Given the description of an element on the screen output the (x, y) to click on. 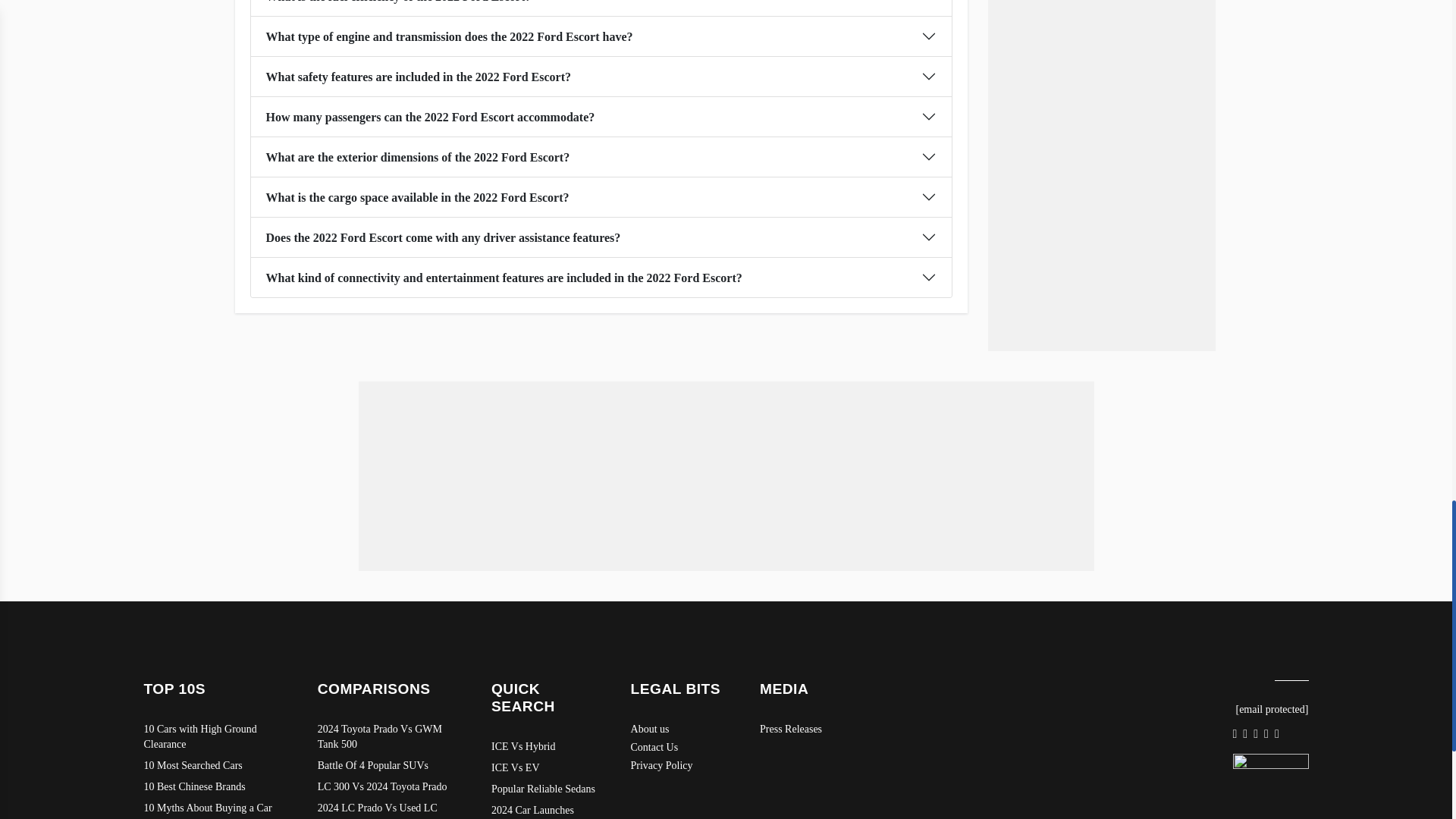
10 Cars with High Ground Clearance (215, 736)
What are the exterior dimensions of the 2022 Ford Escort? (600, 156)
What is the fuel efficiency of the 2022 Ford Escort? (600, 7)
2024 Toyota Prado Vs GWM Tank 500 (389, 736)
How many passengers can the 2022 Ford Escort accommodate? (600, 116)
What is the cargo space available in the 2022 Ford Escort? (600, 197)
What safety features are included in the 2022 Ford Escort? (600, 76)
10 Myths About Buying a Car (215, 807)
